Given the description of an element on the screen output the (x, y) to click on. 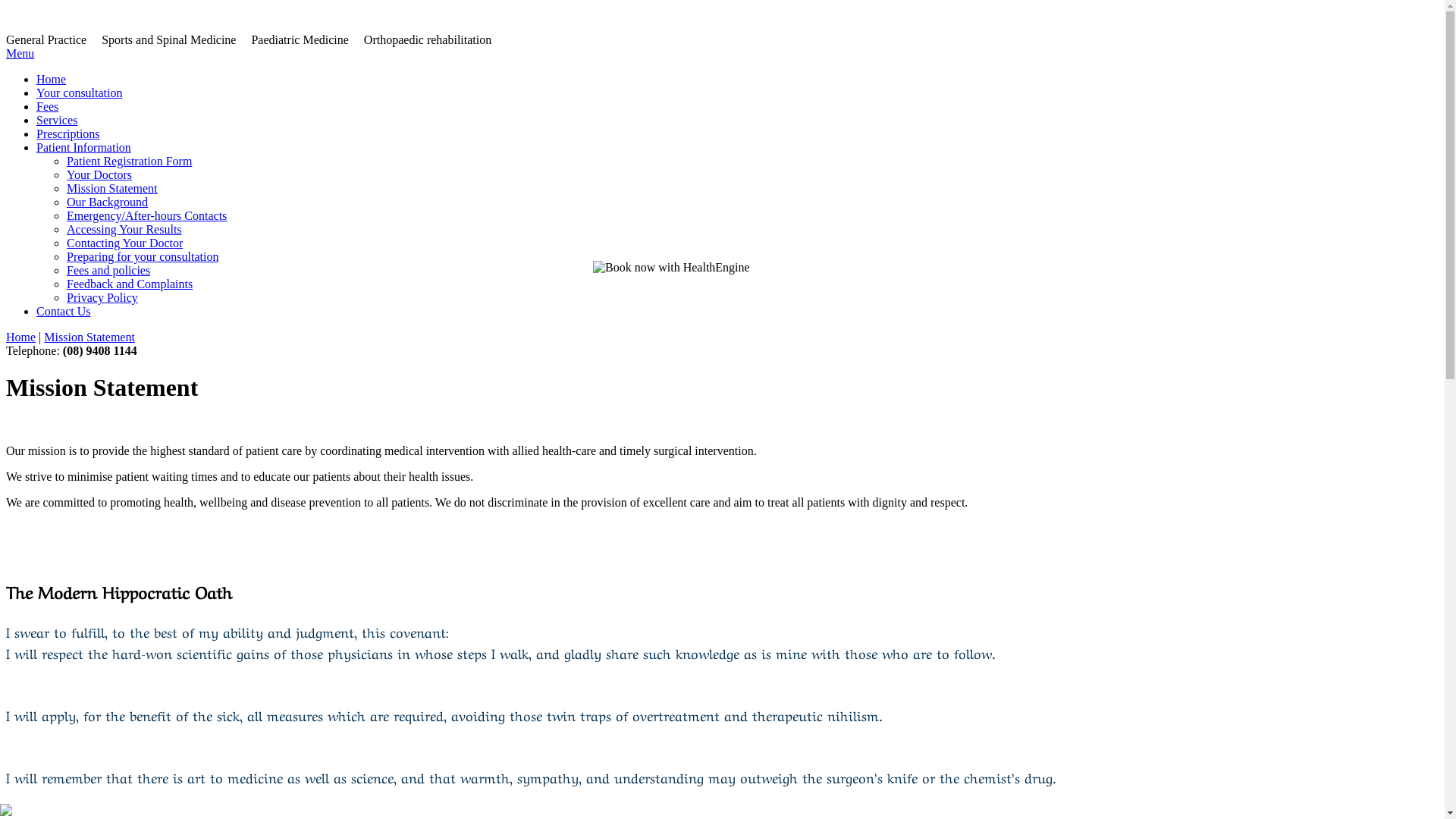
Patient Registration Form Element type: text (128, 160)
Fees and policies Element type: text (108, 269)
Menu Element type: text (20, 53)
Home Element type: text (20, 336)
Privacy Policy Element type: text (102, 297)
Mission Statement Element type: text (88, 336)
Emergency/After-hours Contacts Element type: text (146, 215)
Accessing Your Results Element type: text (124, 228)
Preparing for your consultation Element type: text (142, 256)
Contacting Your Doctor Element type: text (124, 242)
Mission Statement Element type: text (111, 188)
Your Doctors Element type: text (98, 174)
Fees Element type: text (47, 106)
Contact Us Element type: text (63, 310)
Home Element type: text (50, 78)
Prescriptions Element type: text (68, 133)
Services Element type: text (56, 119)
Patient Information Element type: text (83, 147)
Our Background Element type: text (106, 201)
Your consultation Element type: text (79, 92)
Feedback and Complaints Element type: text (129, 283)
